Given the description of an element on the screen output the (x, y) to click on. 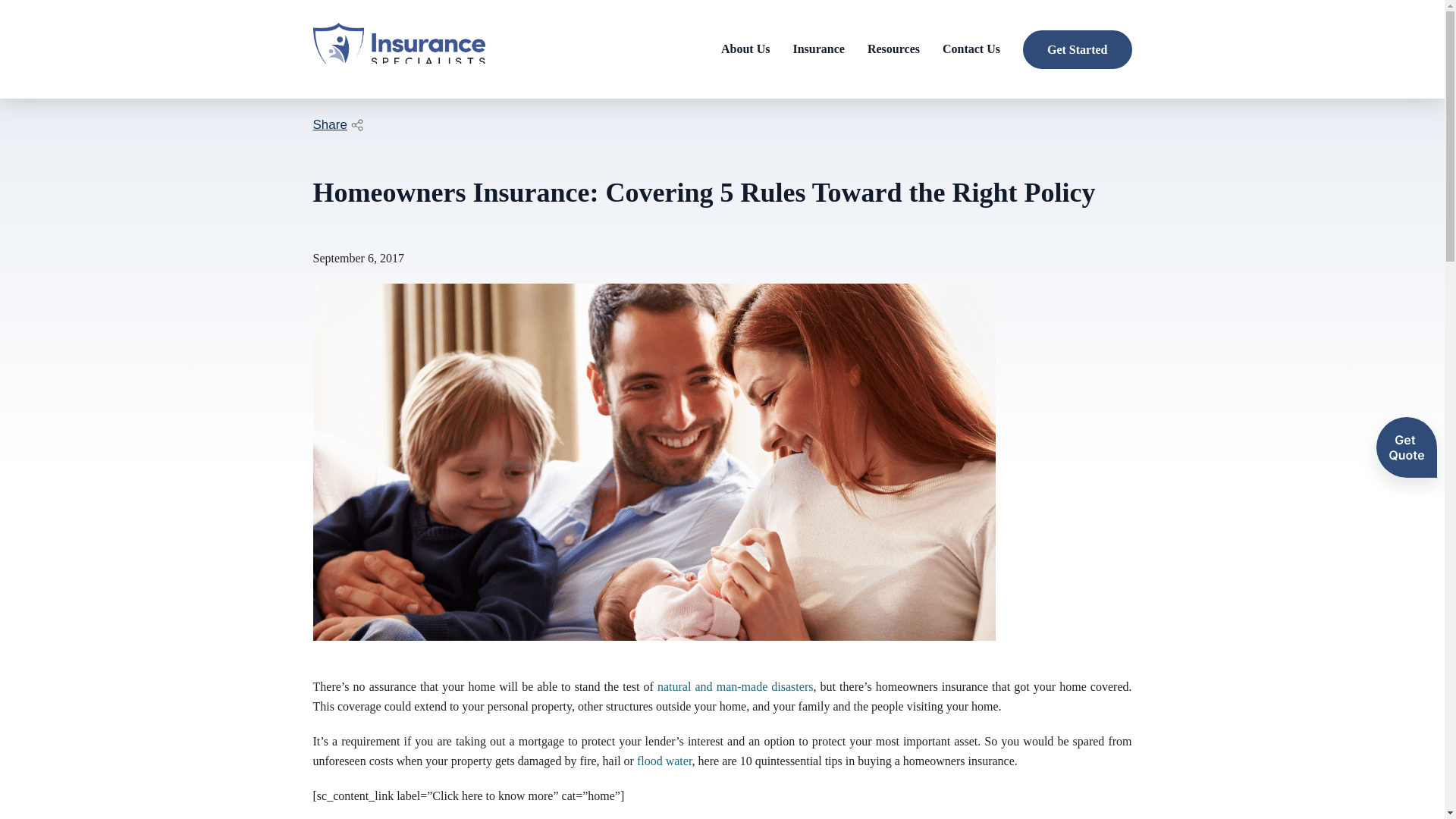
Get Started (1077, 49)
Resources (893, 48)
flood water (665, 760)
Contact Us (971, 48)
Insurance (818, 48)
About Us (745, 48)
Share (337, 124)
natural and man-made disasters (735, 686)
